Given the description of an element on the screen output the (x, y) to click on. 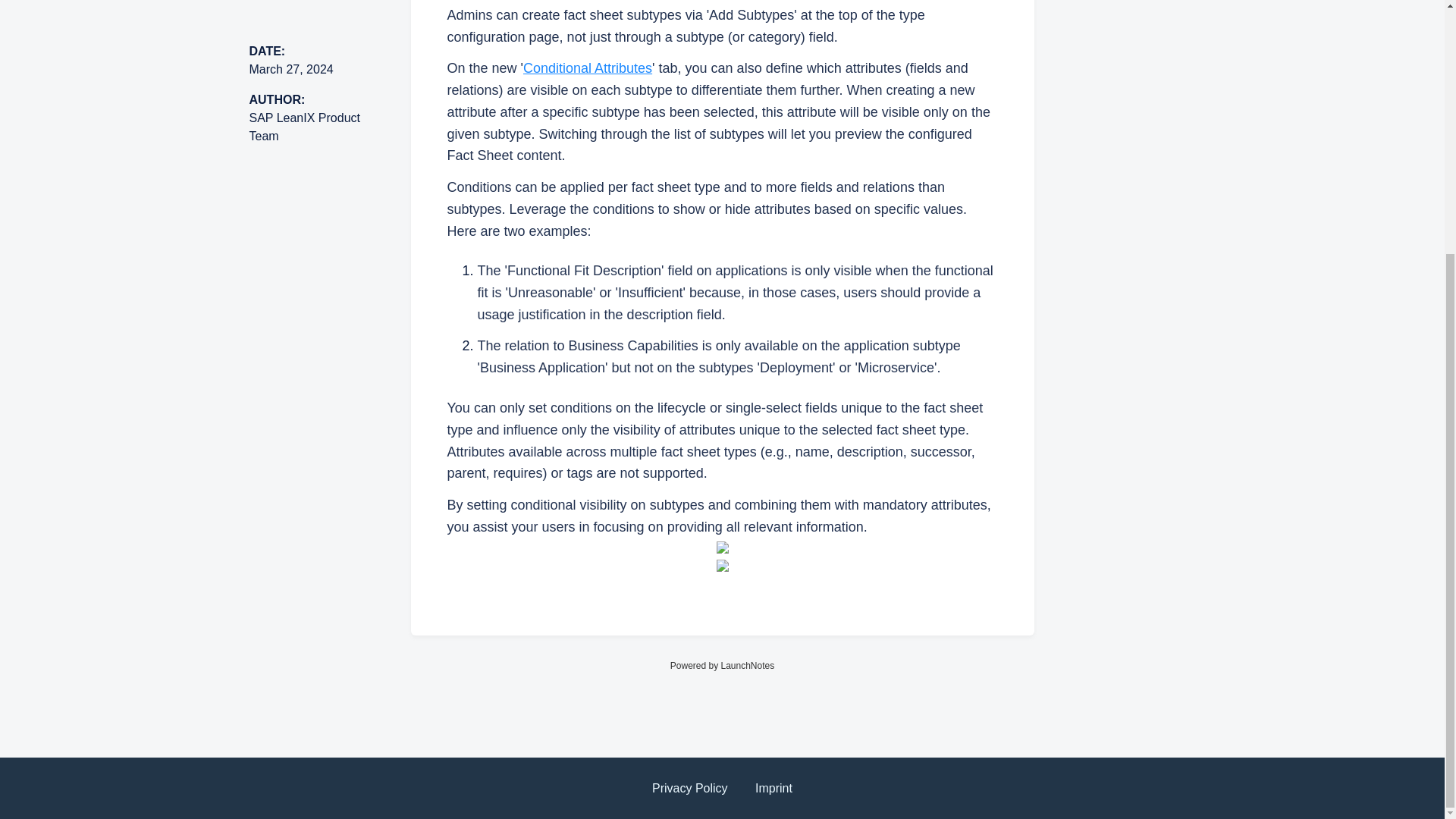
Privacy Policy (689, 788)
Conditional Attributes (587, 68)
Imprint (773, 788)
